Given the description of an element on the screen output the (x, y) to click on. 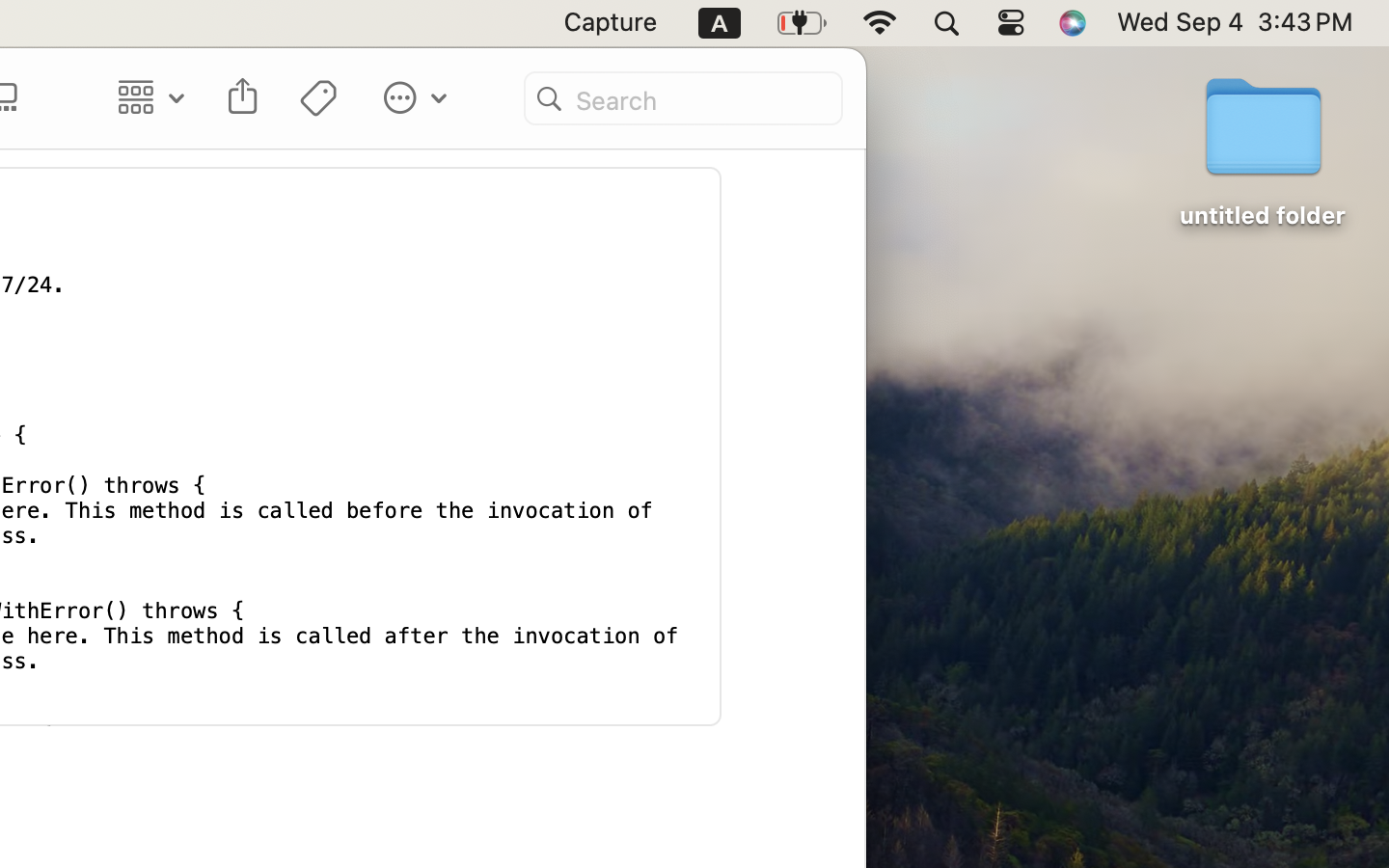
0.0 Element type: AXValueIndicator (709, 335)
